Given the description of an element on the screen output the (x, y) to click on. 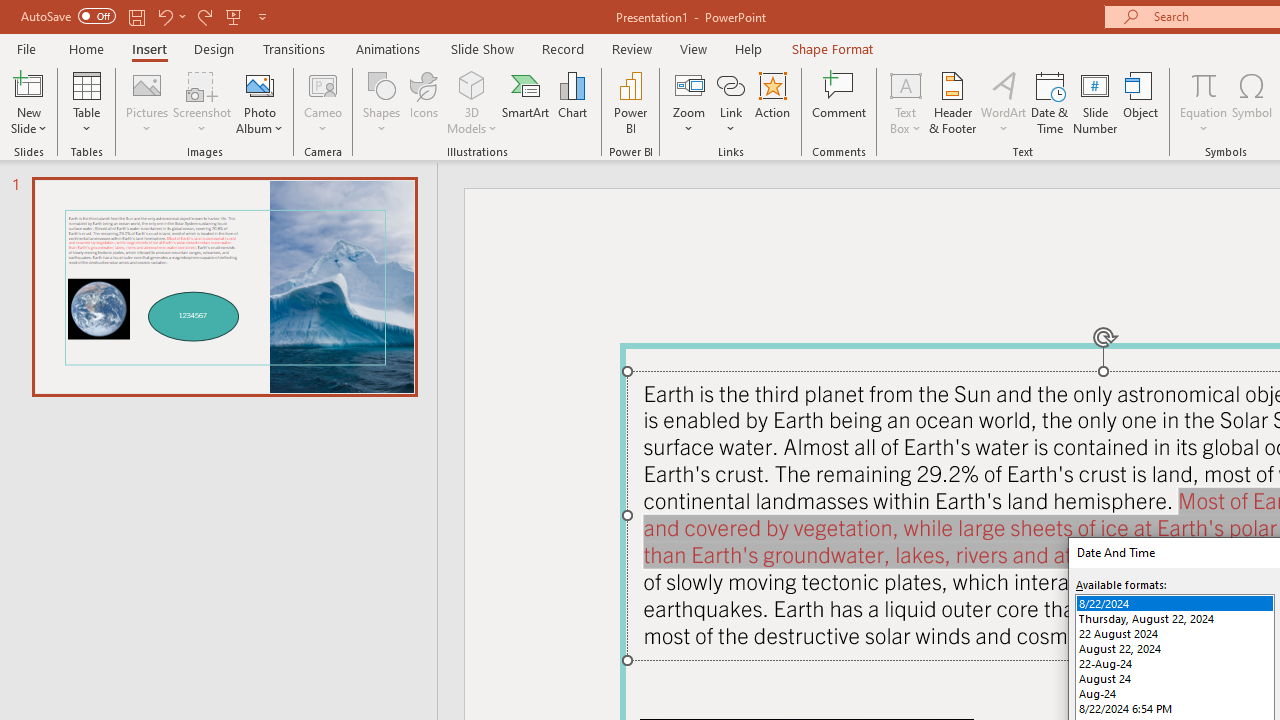
Object... (1141, 102)
Thursday, August 22, 2024 (1174, 618)
SmartArt... (525, 102)
